Given the description of an element on the screen output the (x, y) to click on. 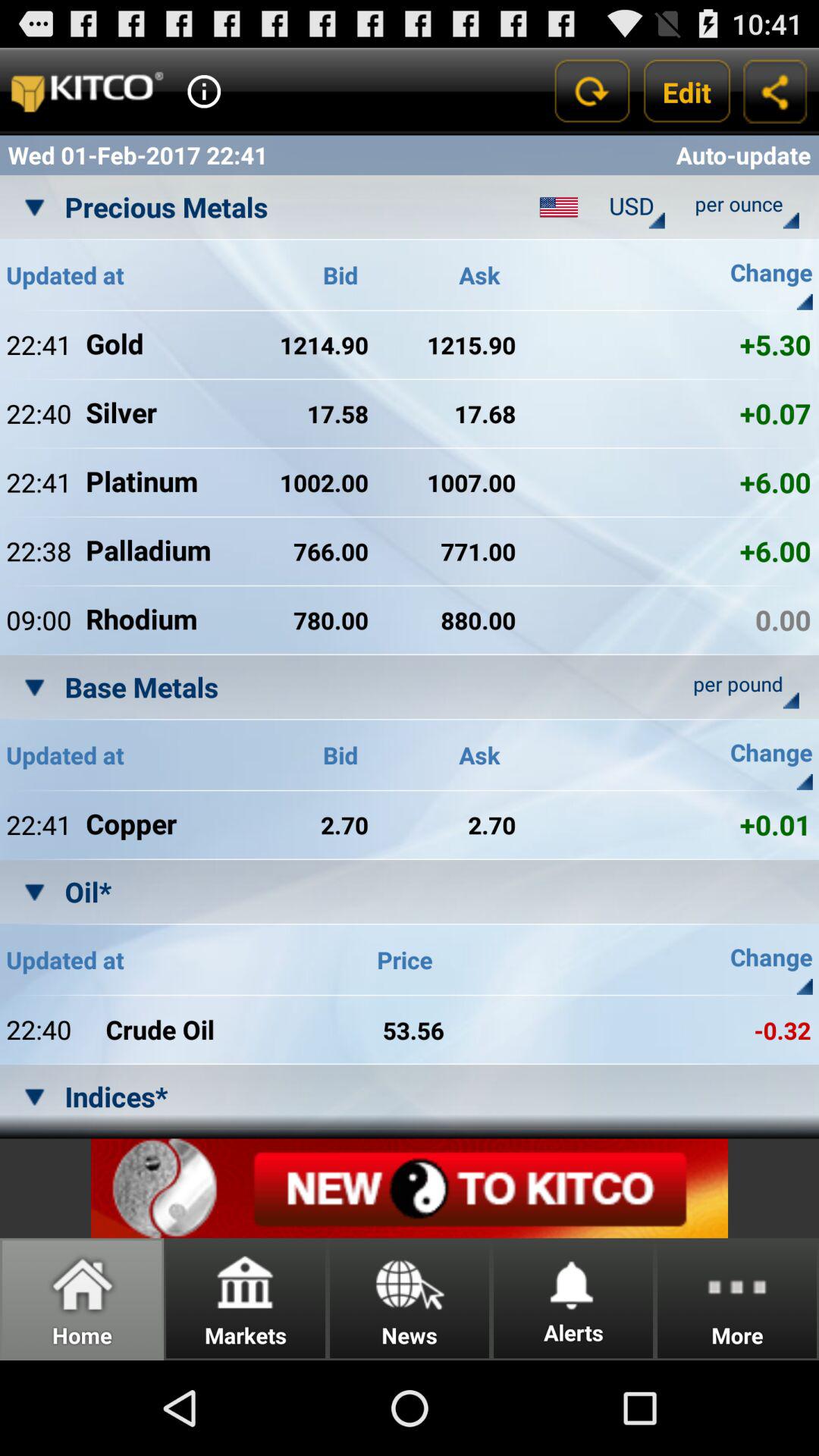
share this page (775, 91)
